Given the description of an element on the screen output the (x, y) to click on. 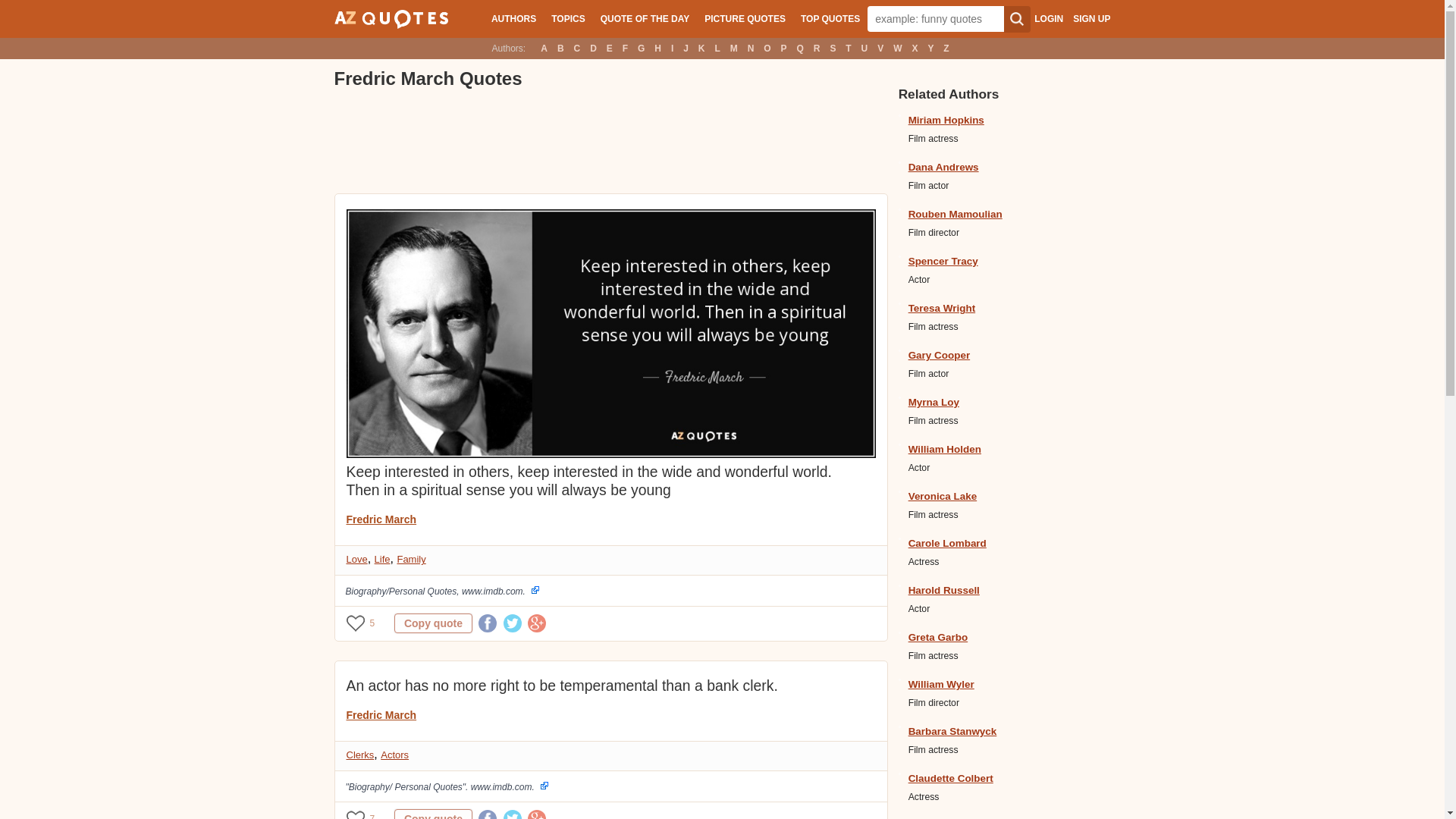
PICTURE QUOTES (745, 18)
TOP QUOTES (830, 18)
AUTHORS (513, 18)
Quote is copied (432, 814)
LOGIN (1047, 18)
TOPICS (567, 18)
Quote is copied (432, 623)
SIGN UP (1091, 18)
QUOTE OF THE DAY (644, 18)
